Given the description of an element on the screen output the (x, y) to click on. 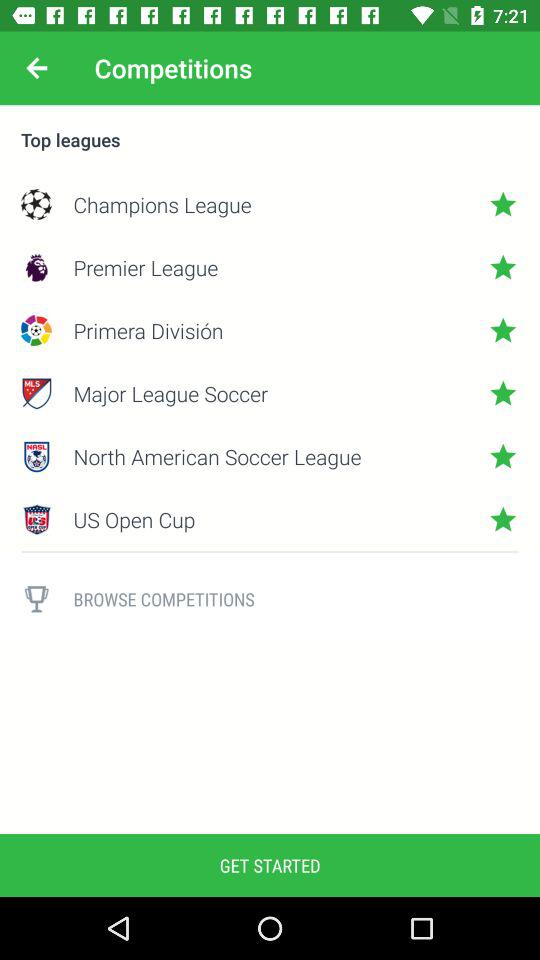
select icon below the top leagues icon (269, 204)
